Given the description of an element on the screen output the (x, y) to click on. 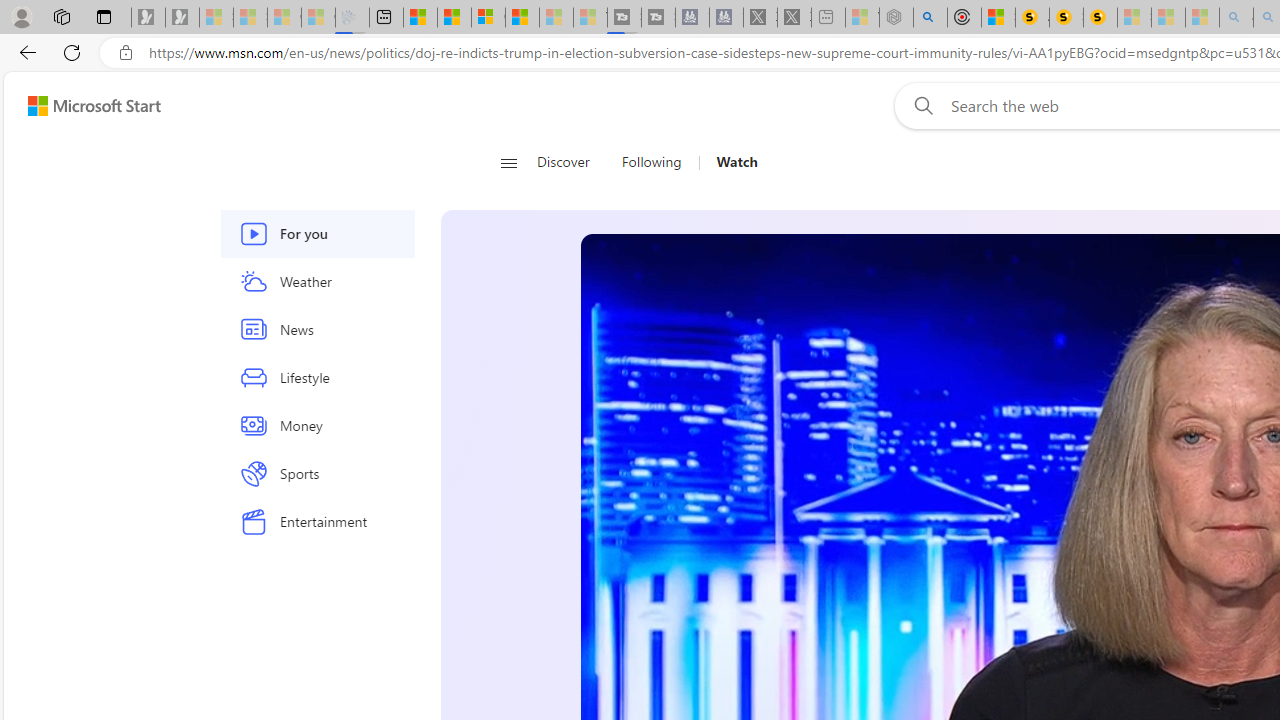
Skip to footer (82, 105)
Class: button-glyph (508, 162)
Streaming Coverage | T3 - Sleeping (624, 17)
Skip to content (86, 105)
Wildlife - MSN - Sleeping (862, 17)
poe - Search (930, 17)
New tab - Sleeping (827, 17)
